Given the description of an element on the screen output the (x, y) to click on. 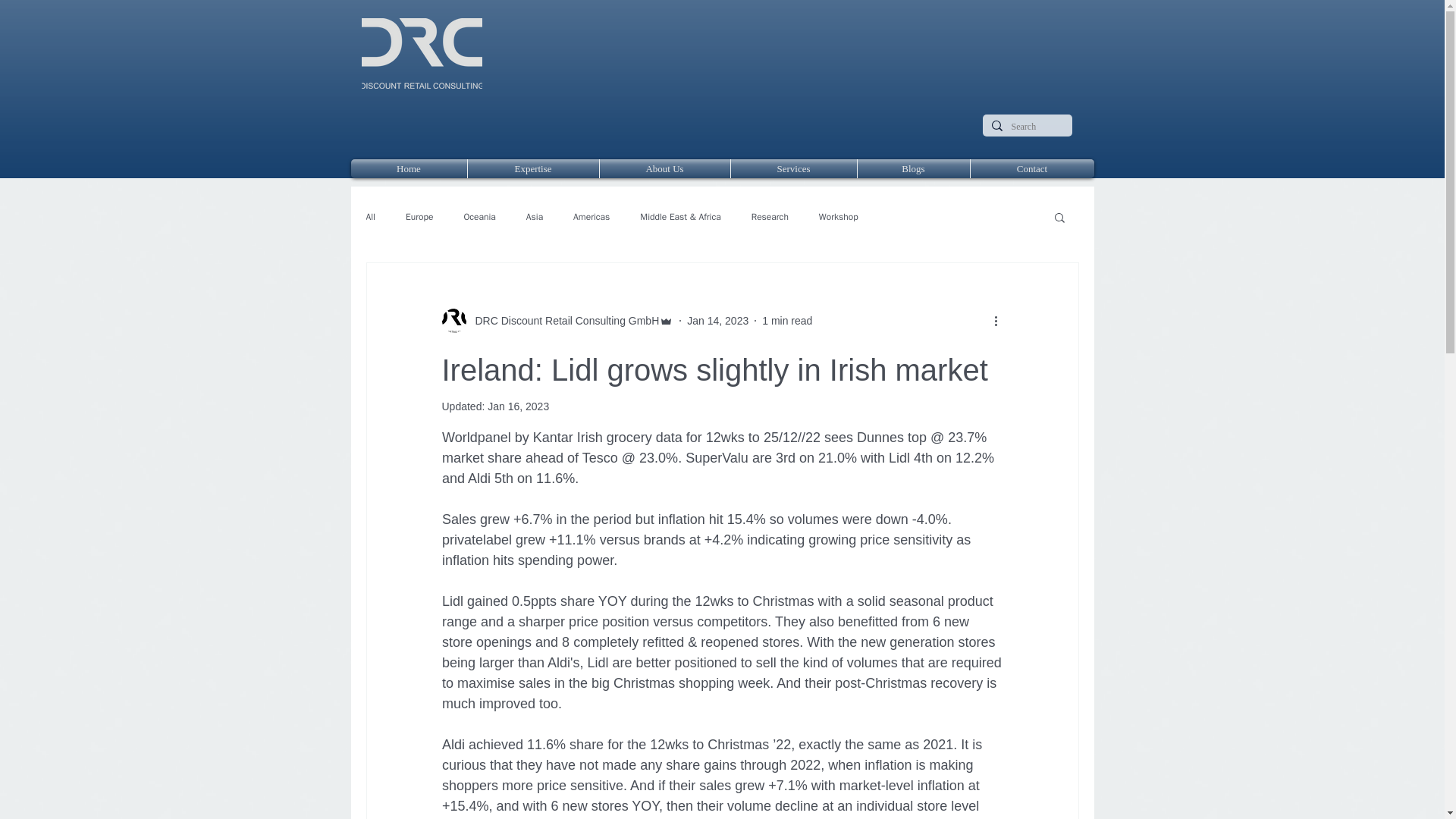
privatelabel (476, 539)
Oceania (479, 216)
Contact (1032, 168)
SuperValu (716, 458)
Services (793, 168)
DRC Discount Retail Consulting GmbH (556, 320)
DRC Discount Retail Consulting GmbH (562, 320)
Blogs (913, 168)
Europe (419, 216)
1 min read (786, 319)
